Given the description of an element on the screen output the (x, y) to click on. 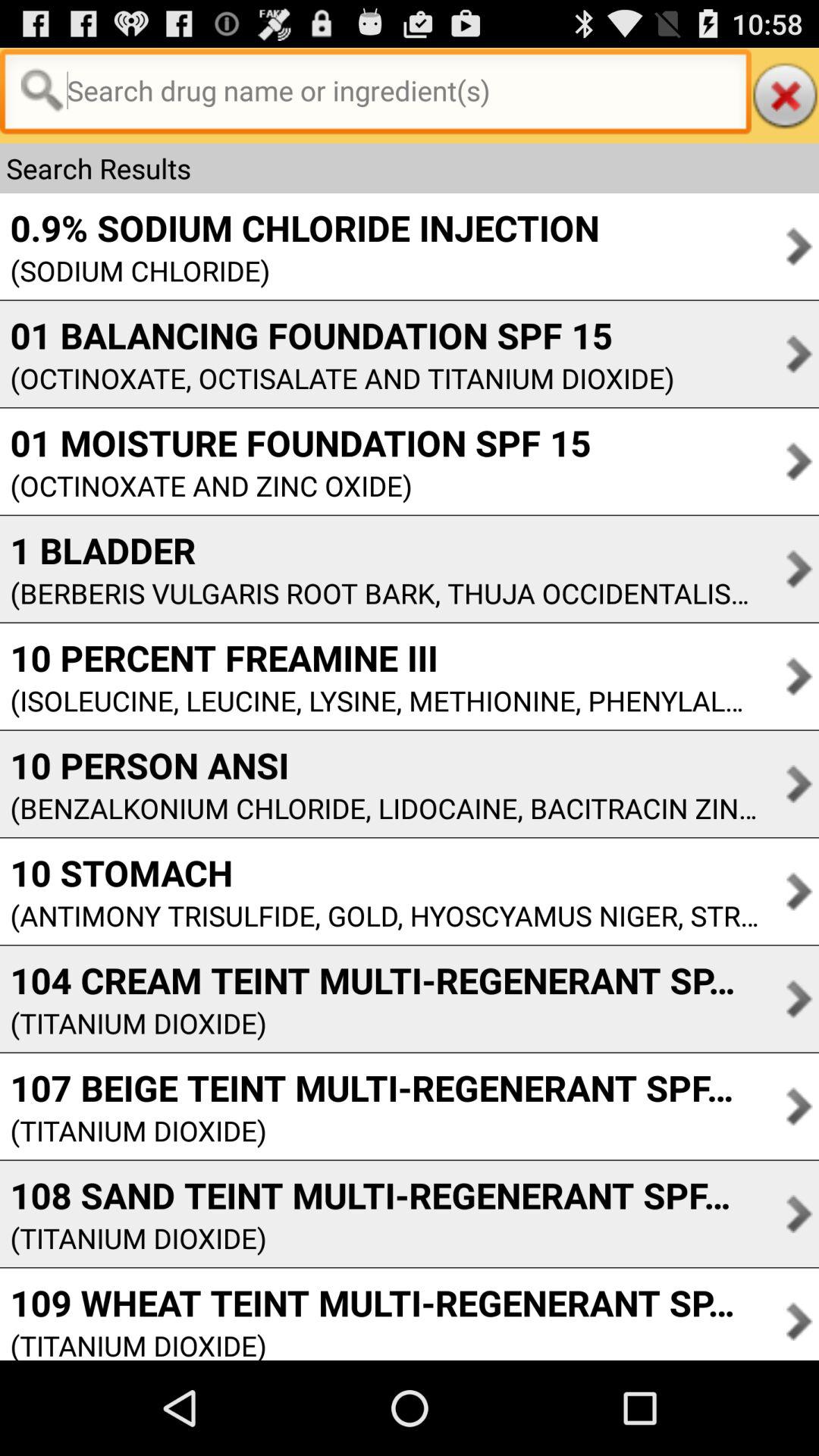
click the app above (titanium dioxide) app (379, 1087)
